Given the description of an element on the screen output the (x, y) to click on. 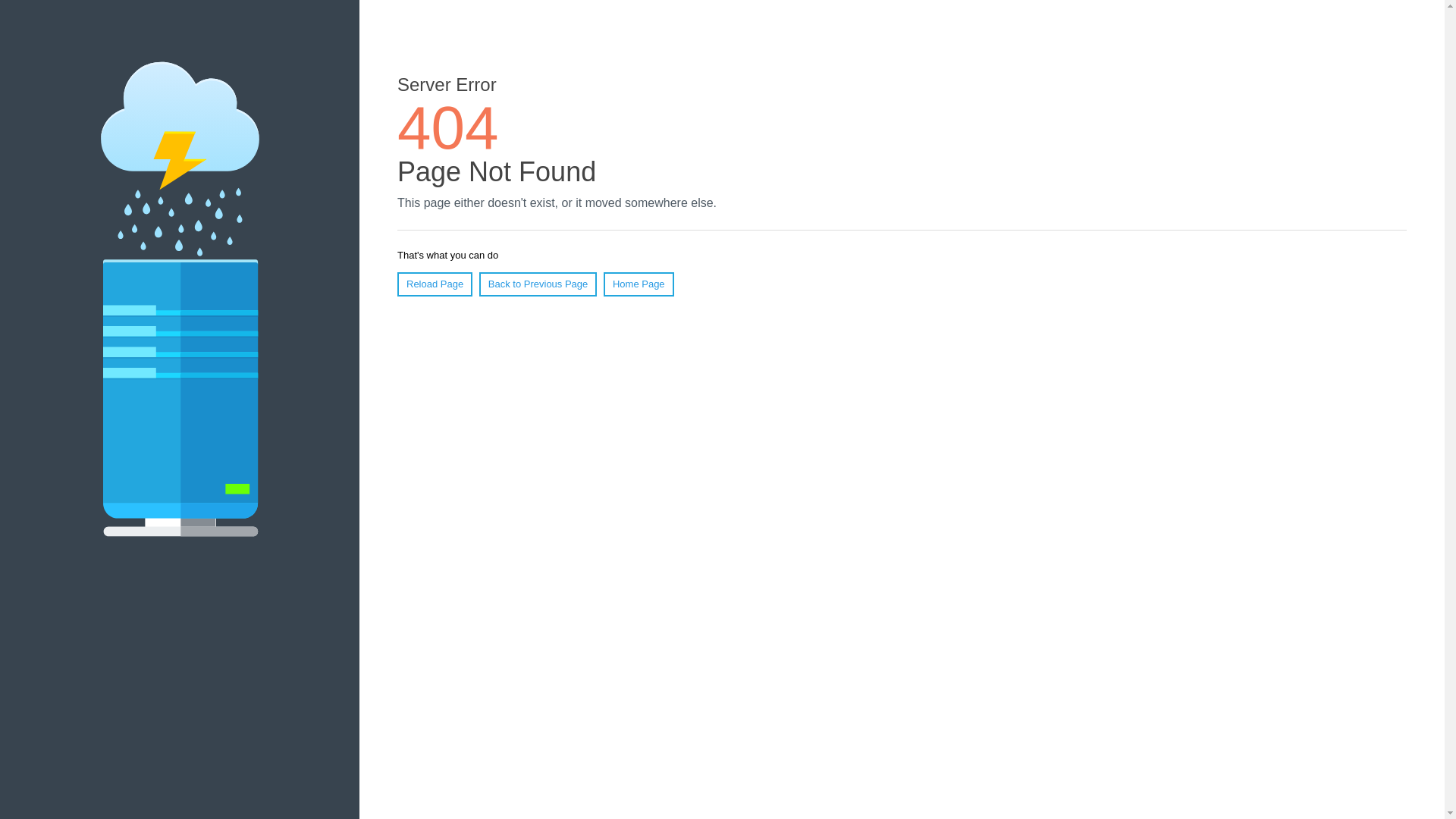
Reload Page Element type: text (434, 284)
Back to Previous Page Element type: text (538, 284)
Home Page Element type: text (638, 284)
